Given the description of an element on the screen output the (x, y) to click on. 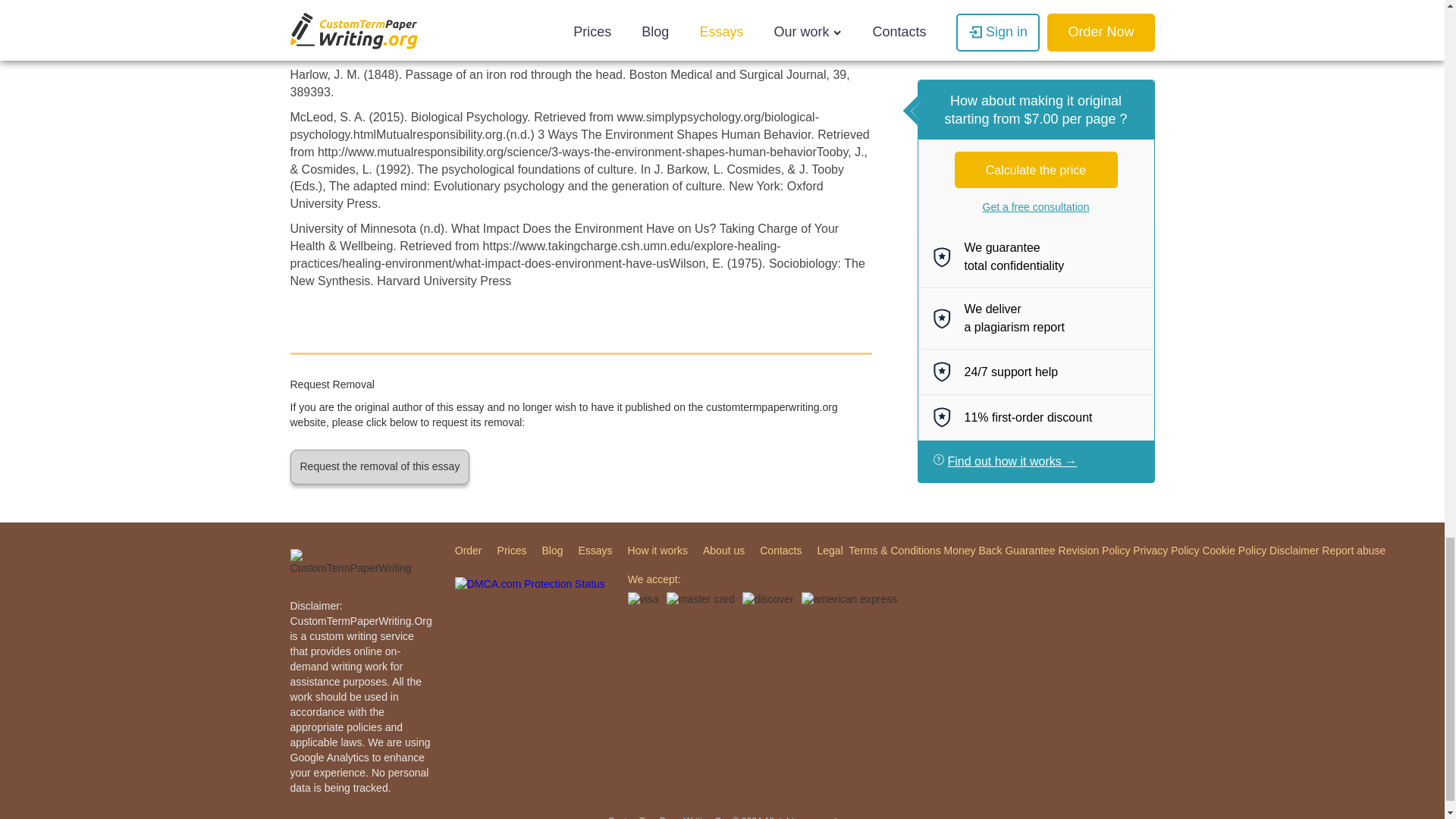
Order (467, 551)
About us (723, 551)
discover (767, 598)
visa (643, 598)
Essays (595, 551)
Request the removal of this essay (378, 466)
master card (700, 598)
american express (850, 598)
Blog (552, 551)
Prices (511, 551)
